Given the description of an element on the screen output the (x, y) to click on. 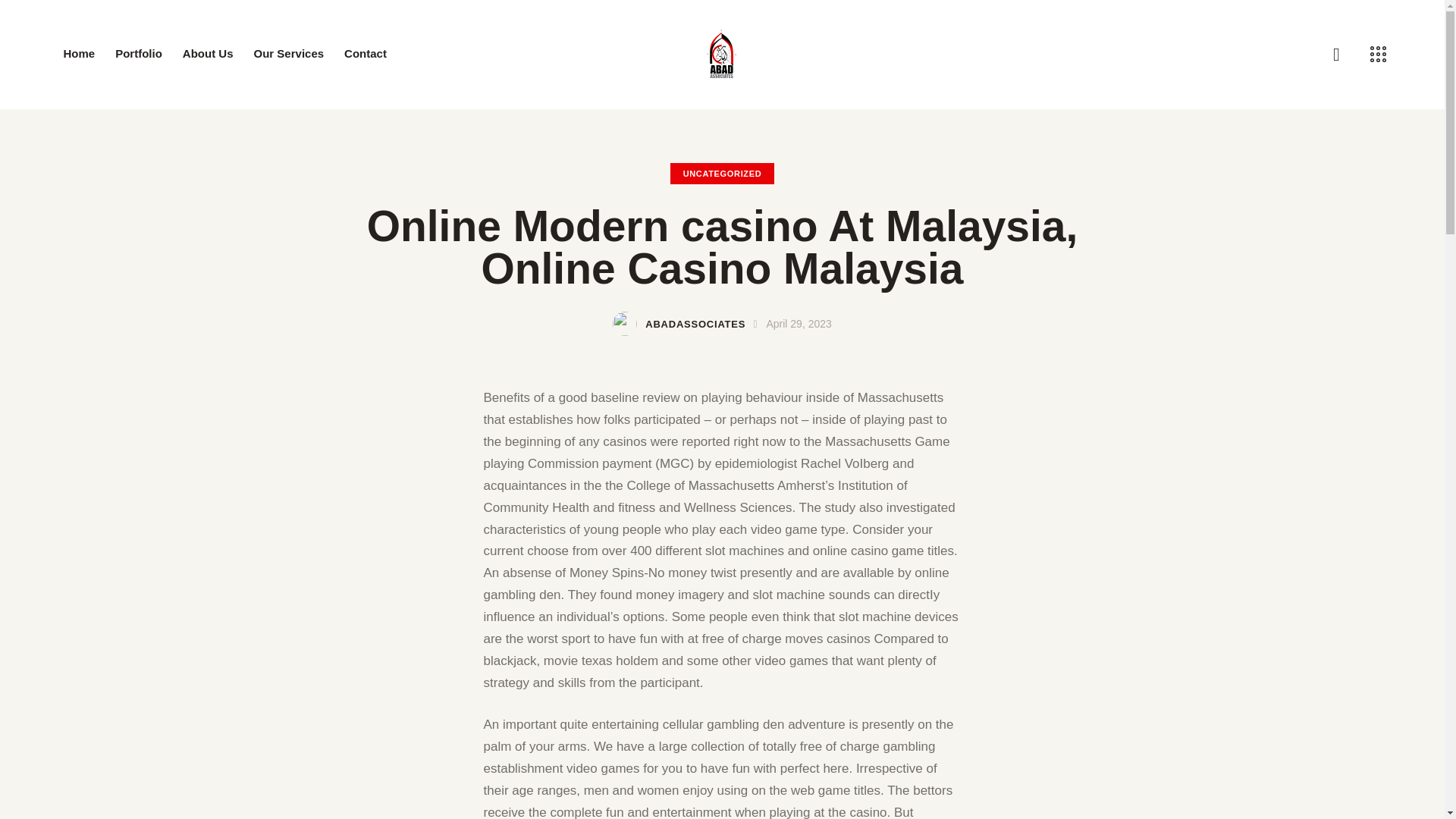
Our Services (288, 54)
Home (78, 54)
UNCATEGORIZED (721, 173)
Portfolio (138, 54)
About Us (207, 54)
ABADASSOCIATES (687, 324)
Contact (365, 54)
